Given the description of an element on the screen output the (x, y) to click on. 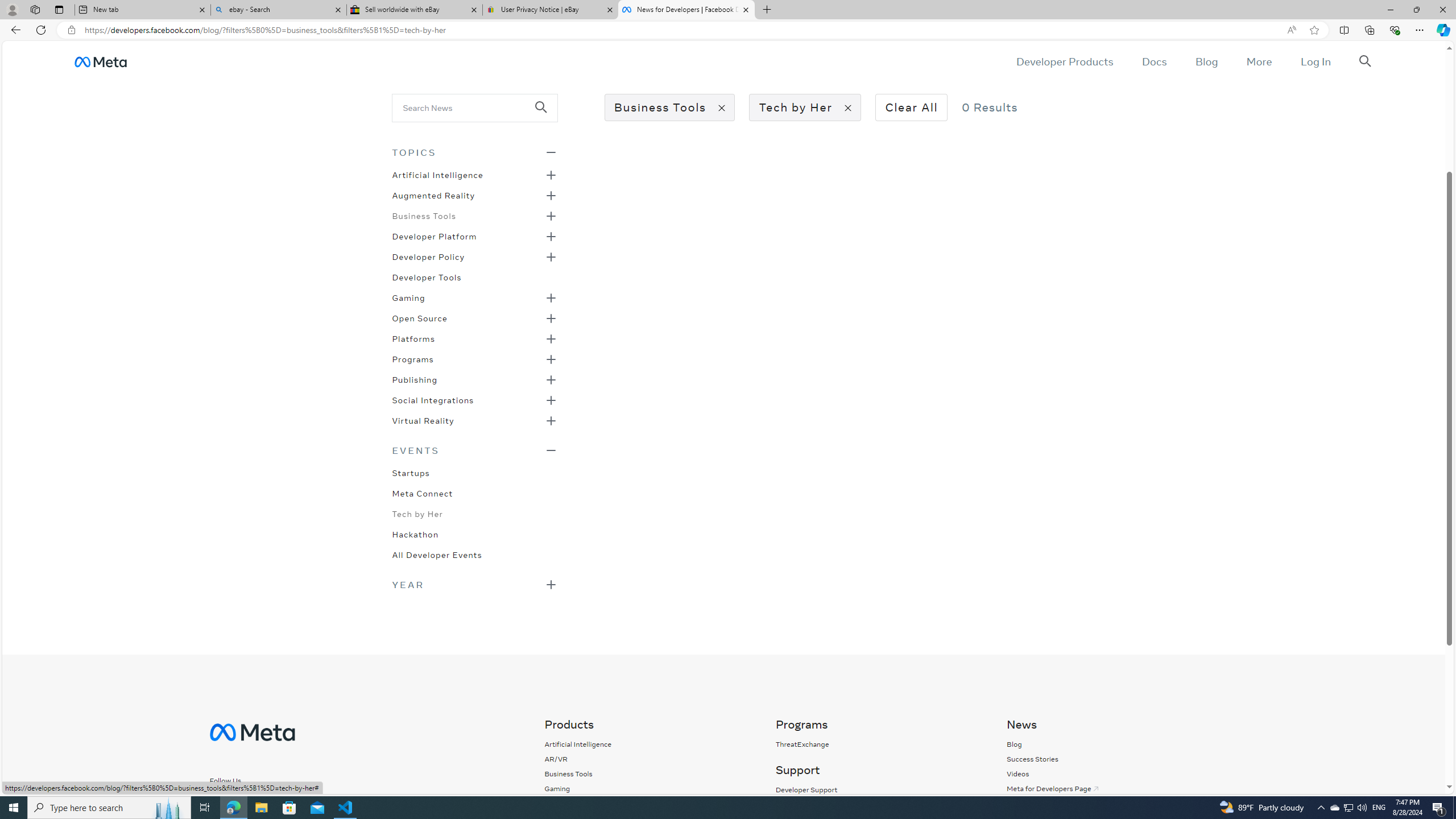
ThreatExchange (801, 743)
Platforms (413, 337)
Gaming (557, 788)
Class: _9890 _98ez (474, 584)
Business Tools (577, 773)
Artificial Intelligence (577, 743)
Augmented Reality (433, 194)
Follow us on Facebook (221, 801)
AR/VR (555, 758)
More (1259, 61)
